Given the description of an element on the screen output the (x, y) to click on. 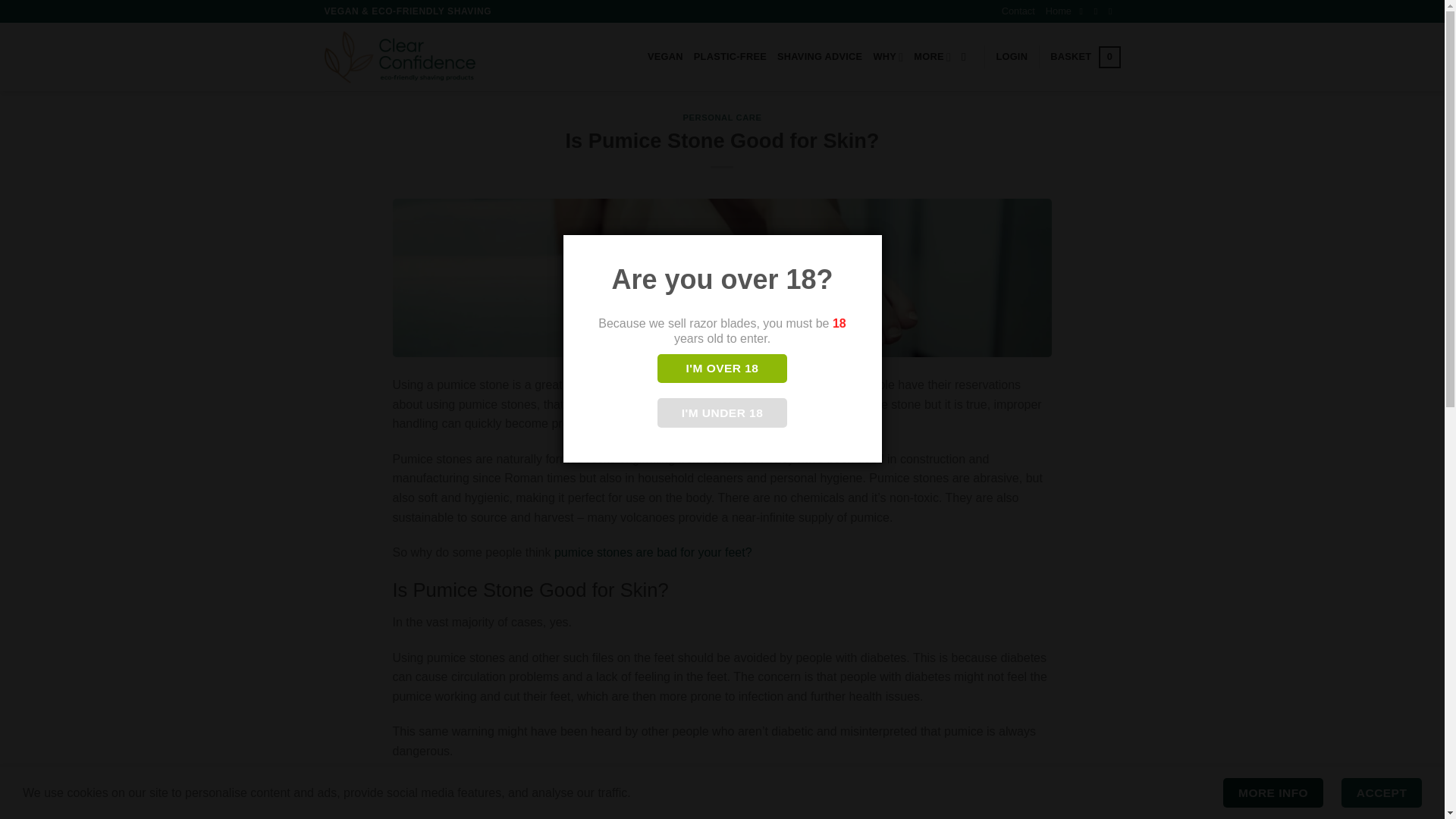
Contact (1018, 11)
WHY (887, 56)
MORE (932, 56)
VEGAN (664, 56)
PLASTIC-FREE (730, 56)
pumice stones are bad for your feet? (653, 552)
SHAVING ADVICE (819, 56)
Home (1058, 11)
LOGIN (1011, 56)
